Given the description of an element on the screen output the (x, y) to click on. 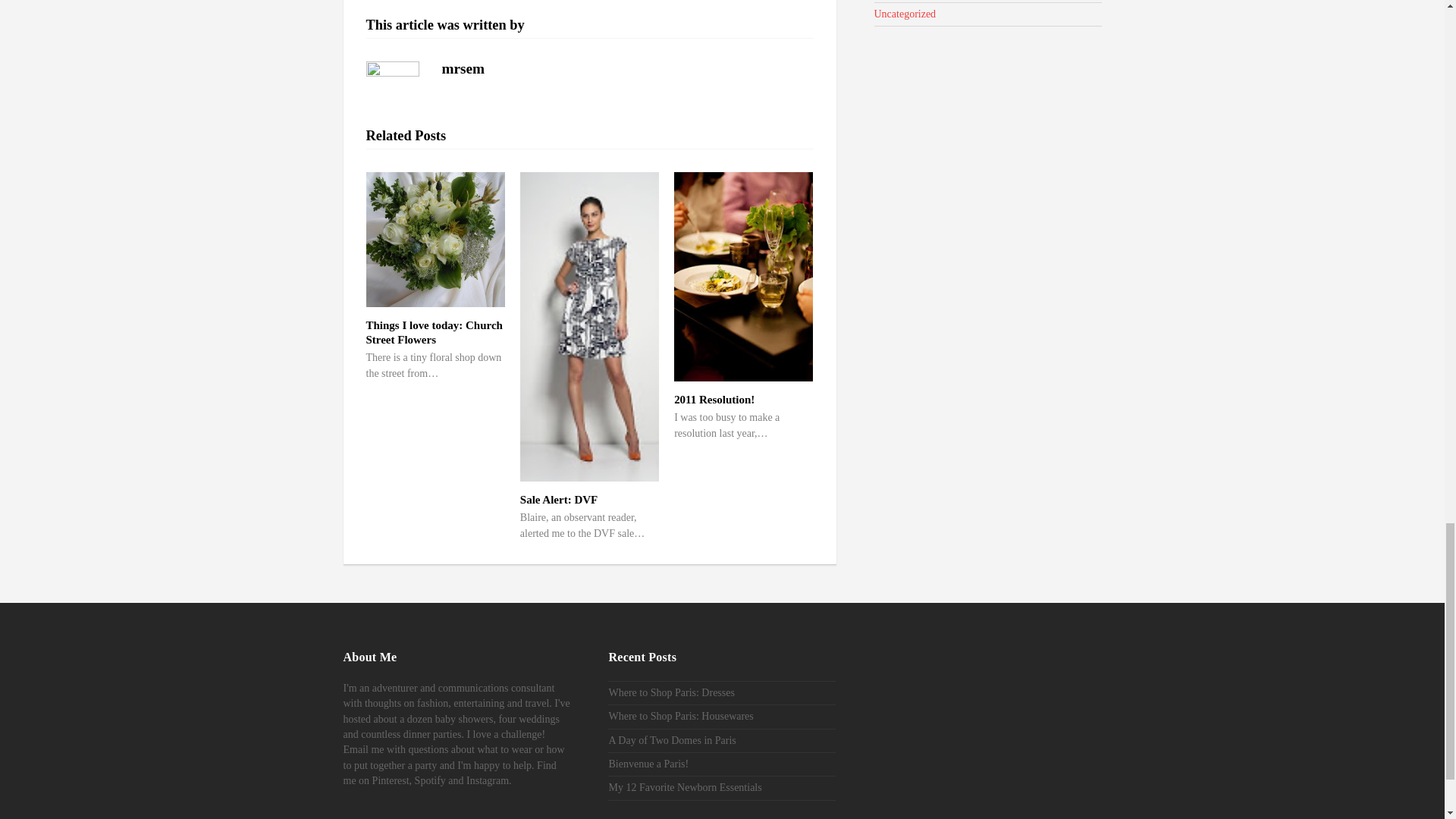
mrsem (462, 68)
Visit Author Page (462, 68)
2011 Resolution! (714, 399)
Visit Author Page (392, 87)
Sale Alert: DVF (557, 499)
Things I love today: Church Street Flowers (433, 332)
